Given the description of an element on the screen output the (x, y) to click on. 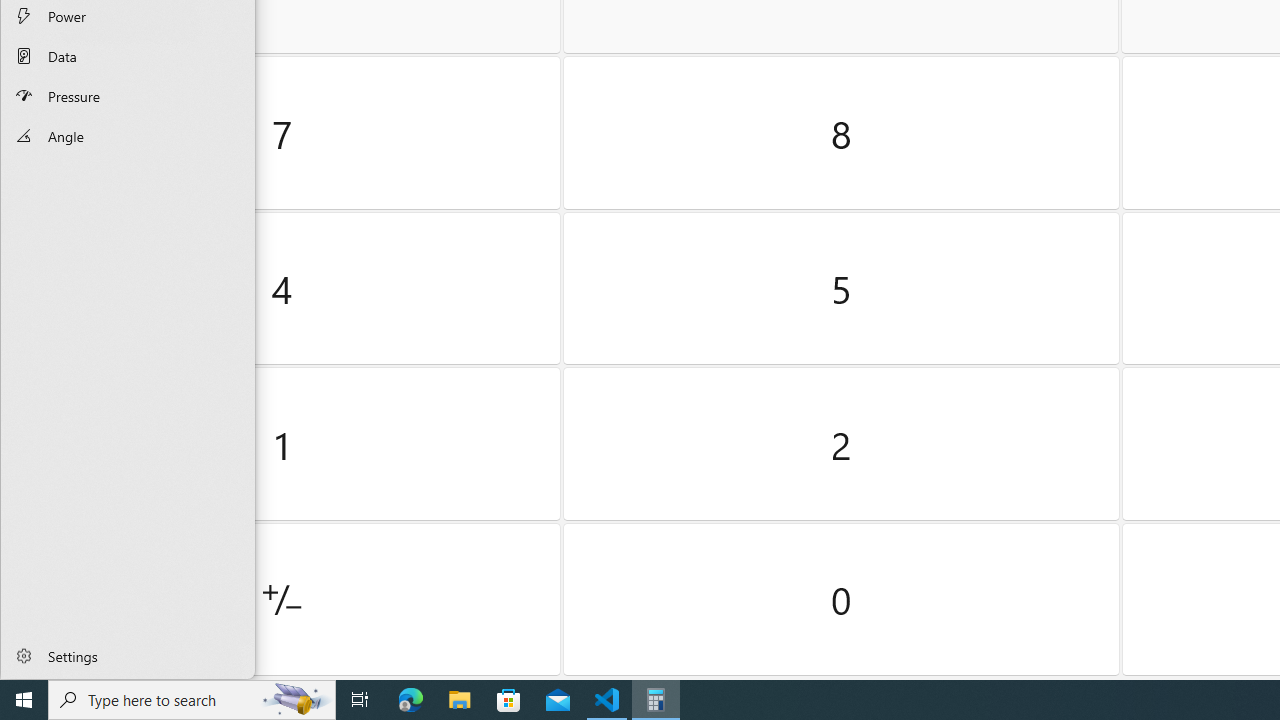
Settings (127, 655)
Five (841, 288)
Seven (281, 133)
Four (281, 288)
Data Converter (127, 56)
Eight (841, 133)
Zero (841, 599)
One (281, 444)
Two (841, 444)
Calculator - 1 running window (656, 699)
Angle Converter (127, 136)
